Given the description of an element on the screen output the (x, y) to click on. 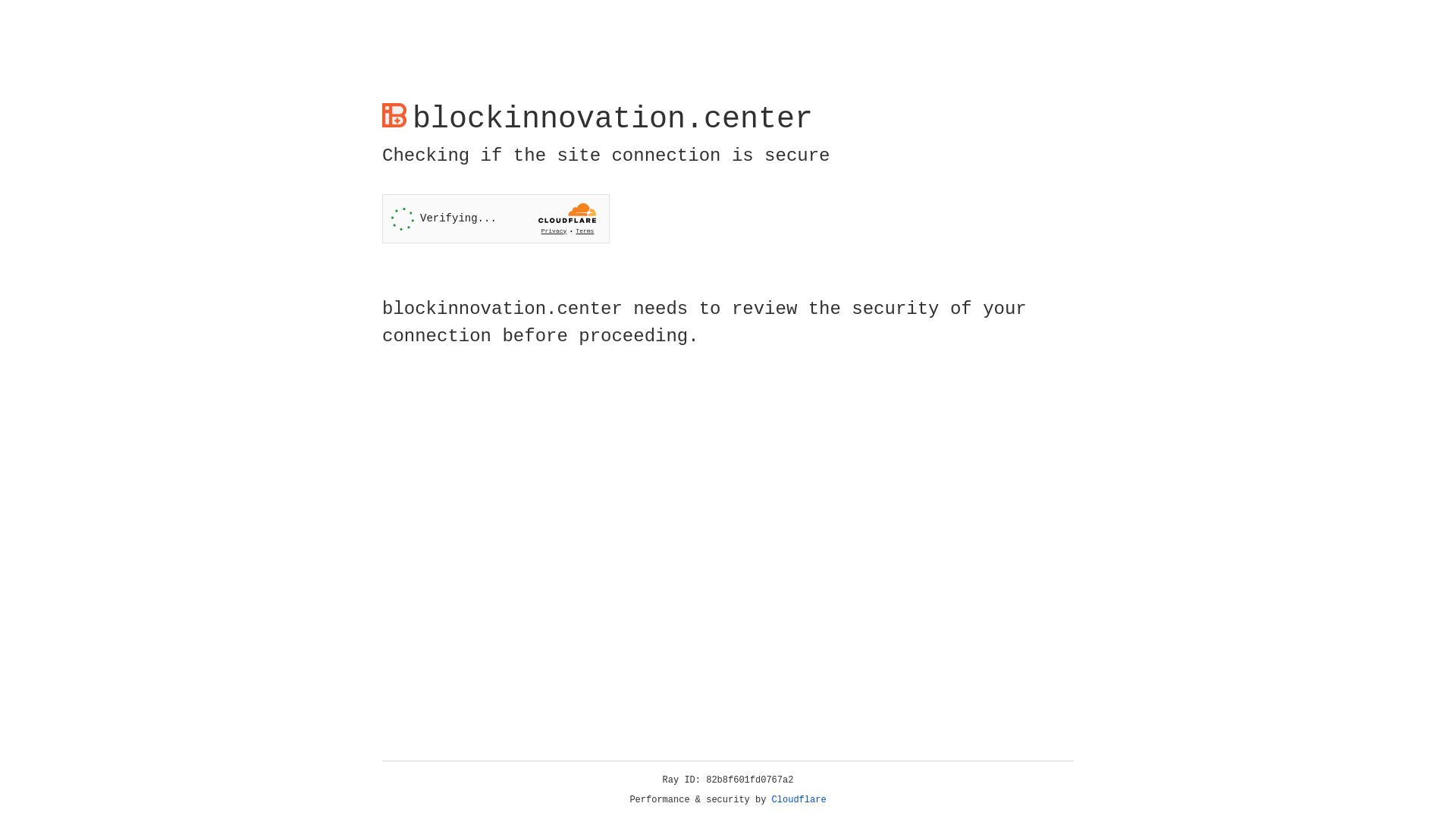
Widget containing a Cloudflare security challenge Element type: hover (495, 218)
Cloudflare Element type: text (798, 799)
